Given the description of an element on the screen output the (x, y) to click on. 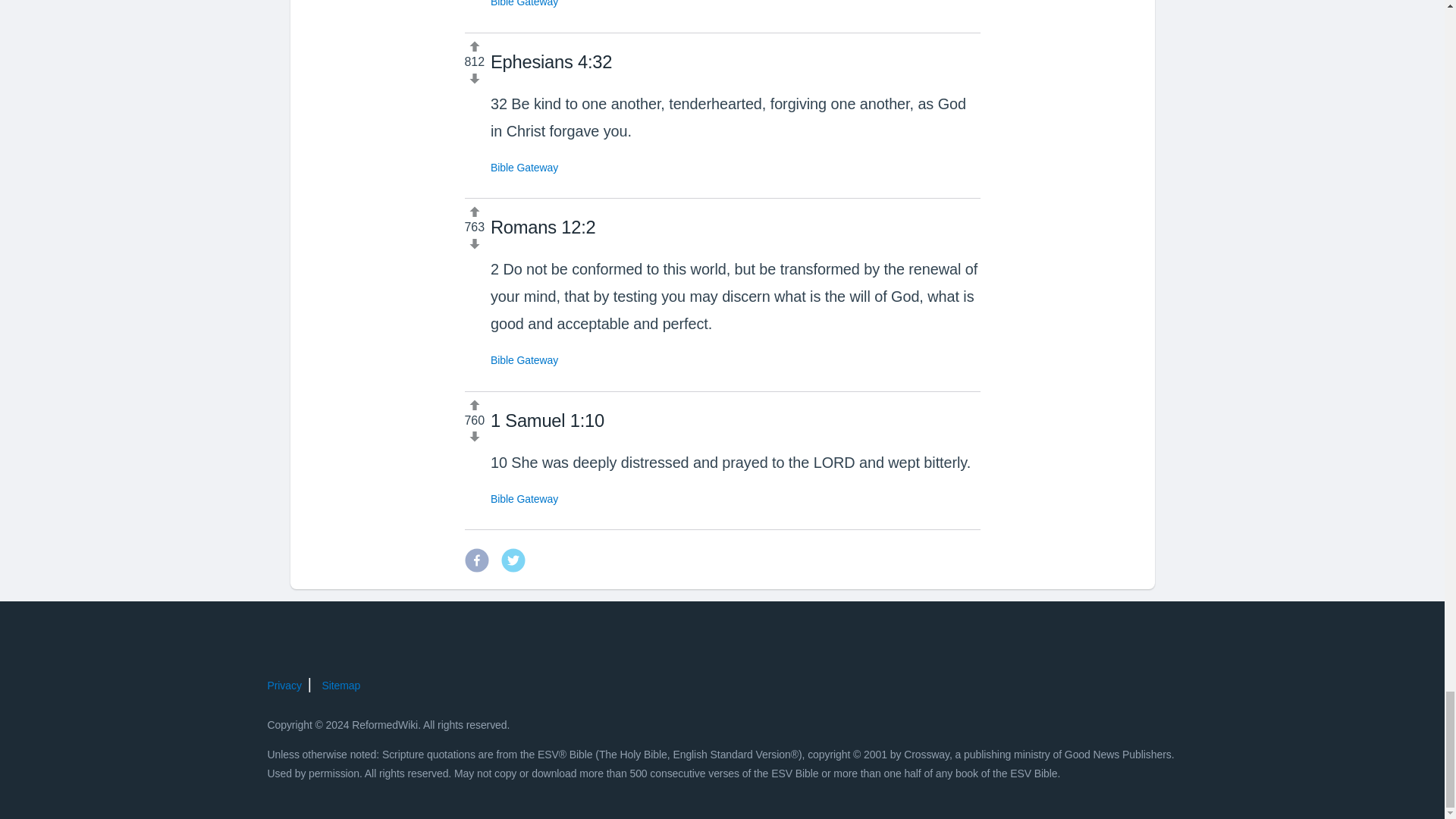
Bible Gateway (523, 167)
Bible Gateway (523, 498)
Bible Gateway (523, 3)
Bible Gateway (523, 359)
